Given the description of an element on the screen output the (x, y) to click on. 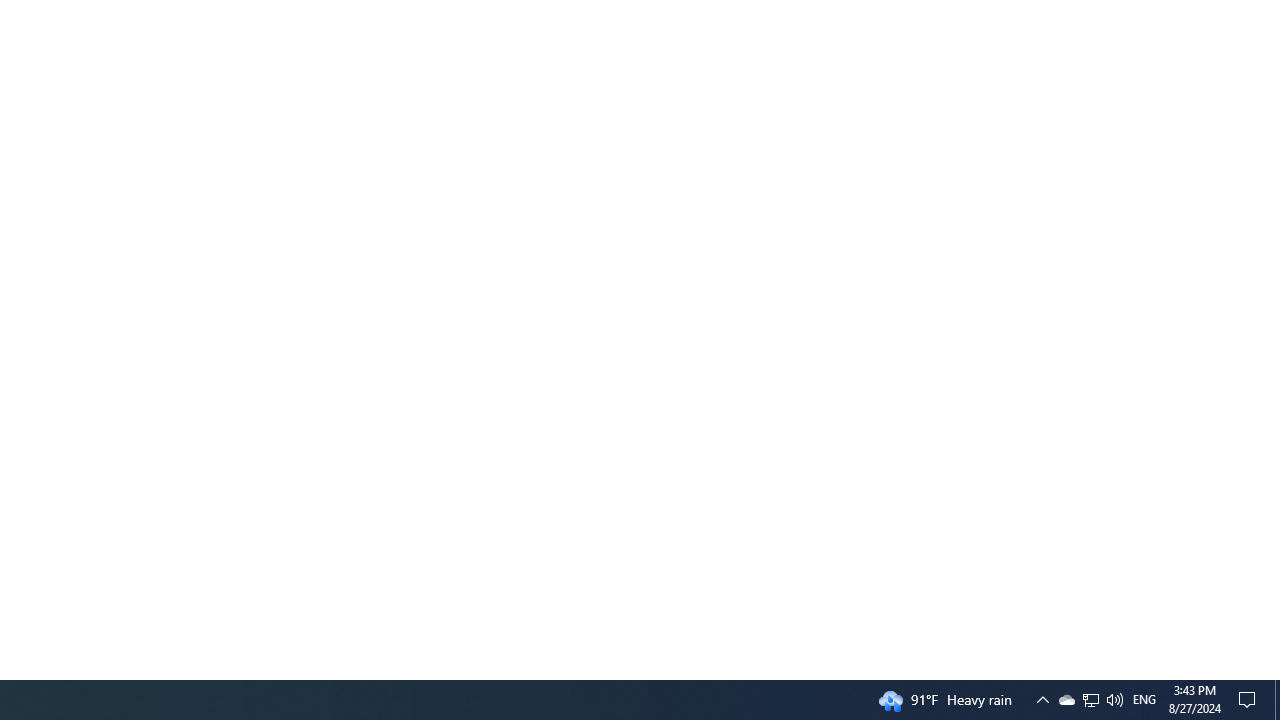
Tray Input Indicator - English (United States) (1144, 699)
